Given the description of an element on the screen output the (x, y) to click on. 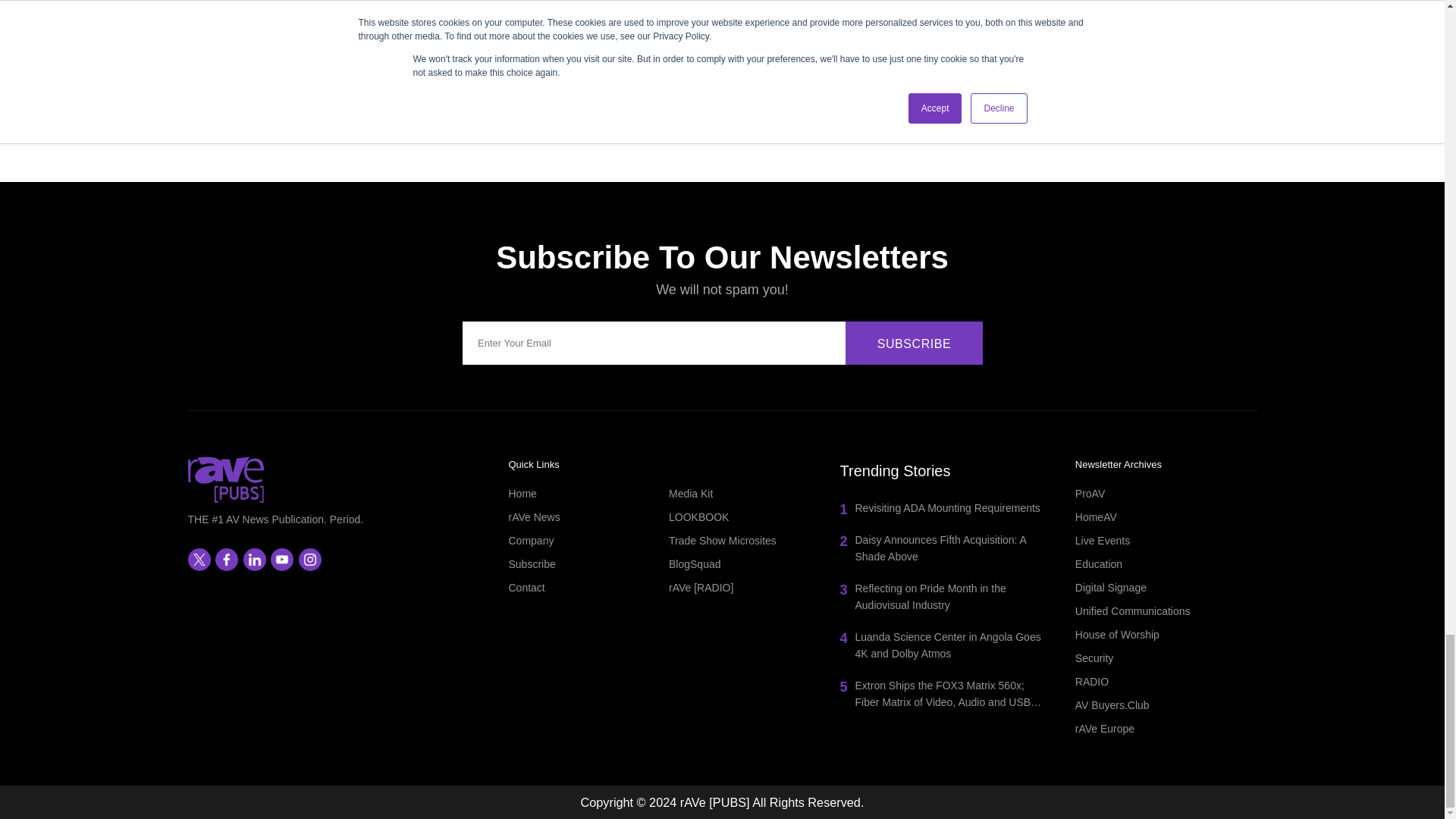
Subscribe (913, 342)
